Given the description of an element on the screen output the (x, y) to click on. 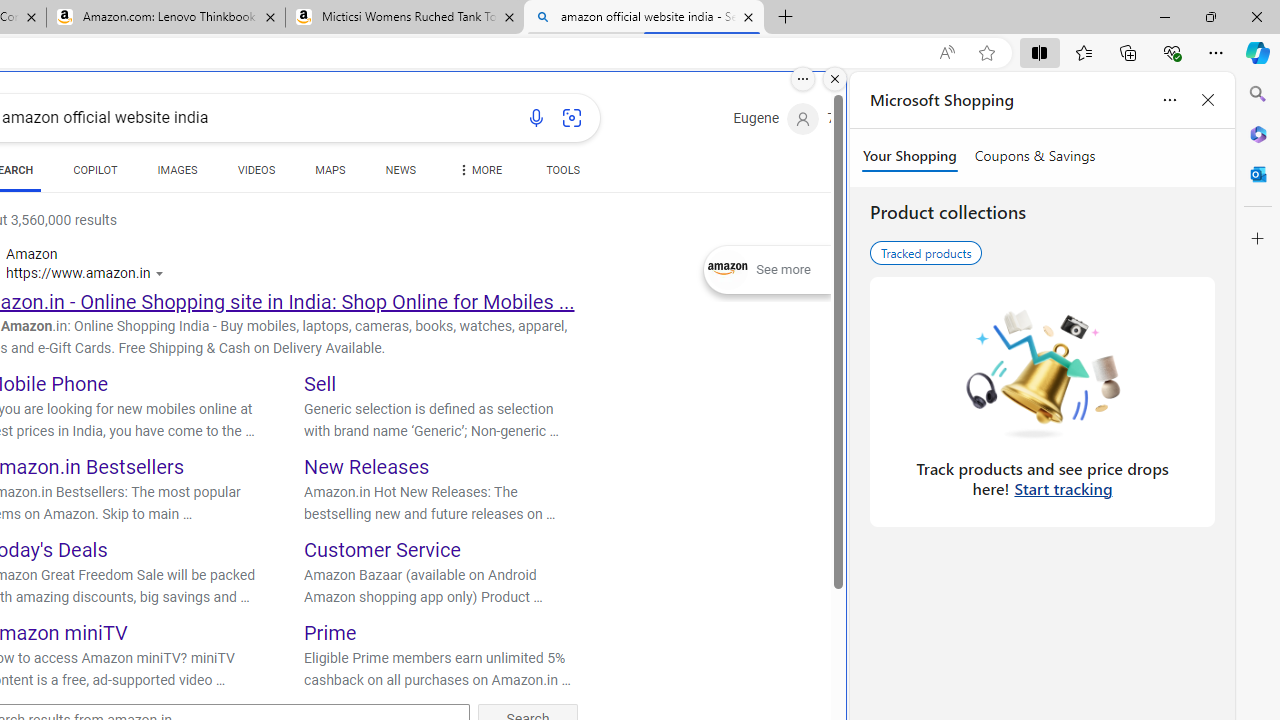
Search using voice (536, 117)
Eugene (776, 119)
TOOLS (562, 170)
MORE (478, 173)
Dropdown Menu (478, 170)
